Given the description of an element on the screen output the (x, y) to click on. 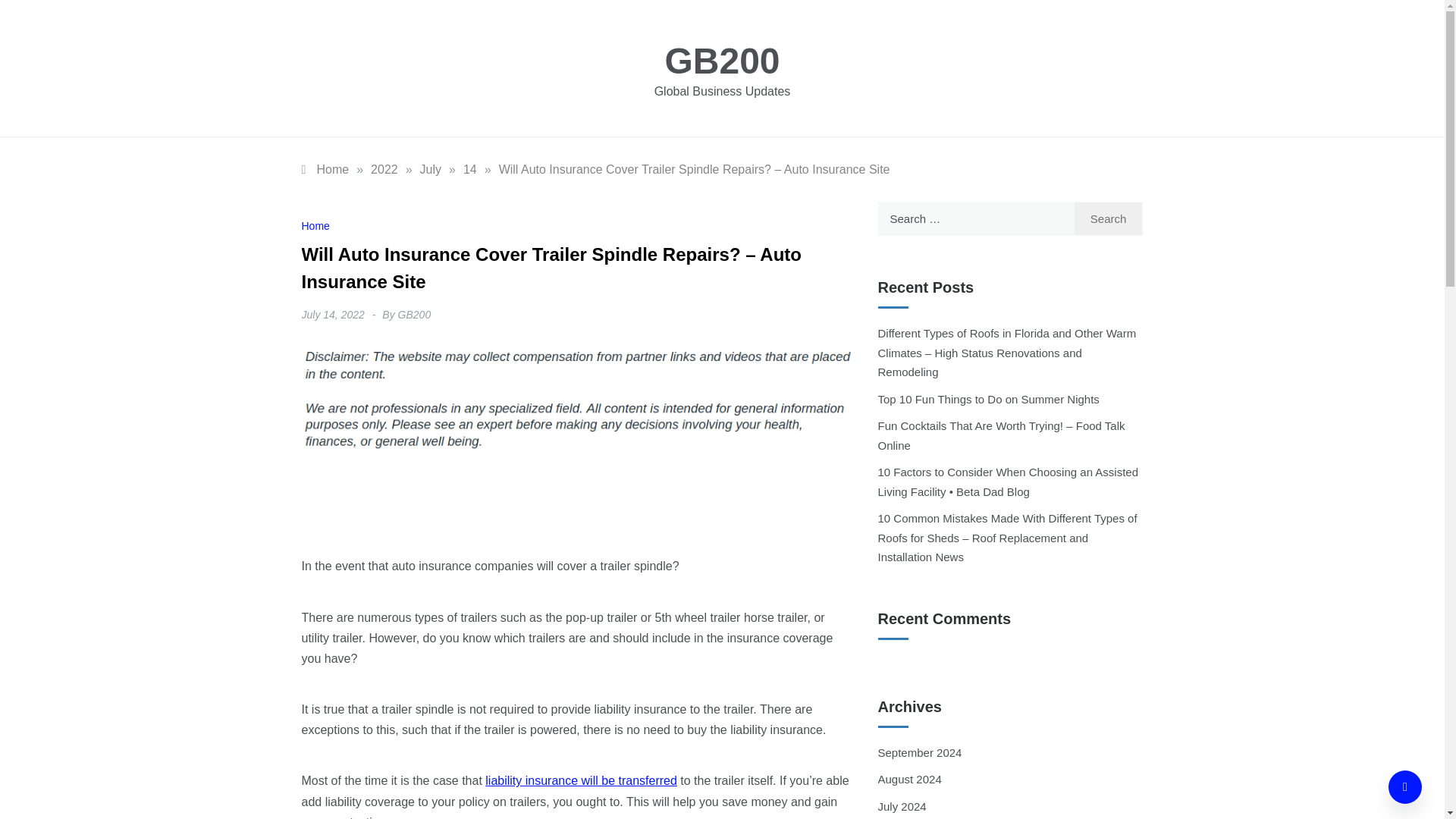
liability insurance will be transferred (580, 780)
August 2024 (909, 779)
14 (470, 169)
GB200 (413, 314)
July 2024 (901, 806)
GB200 (720, 60)
September 2024 (919, 752)
Search (1108, 218)
July 14, 2022 (333, 314)
Home (315, 225)
